Given the description of an element on the screen output the (x, y) to click on. 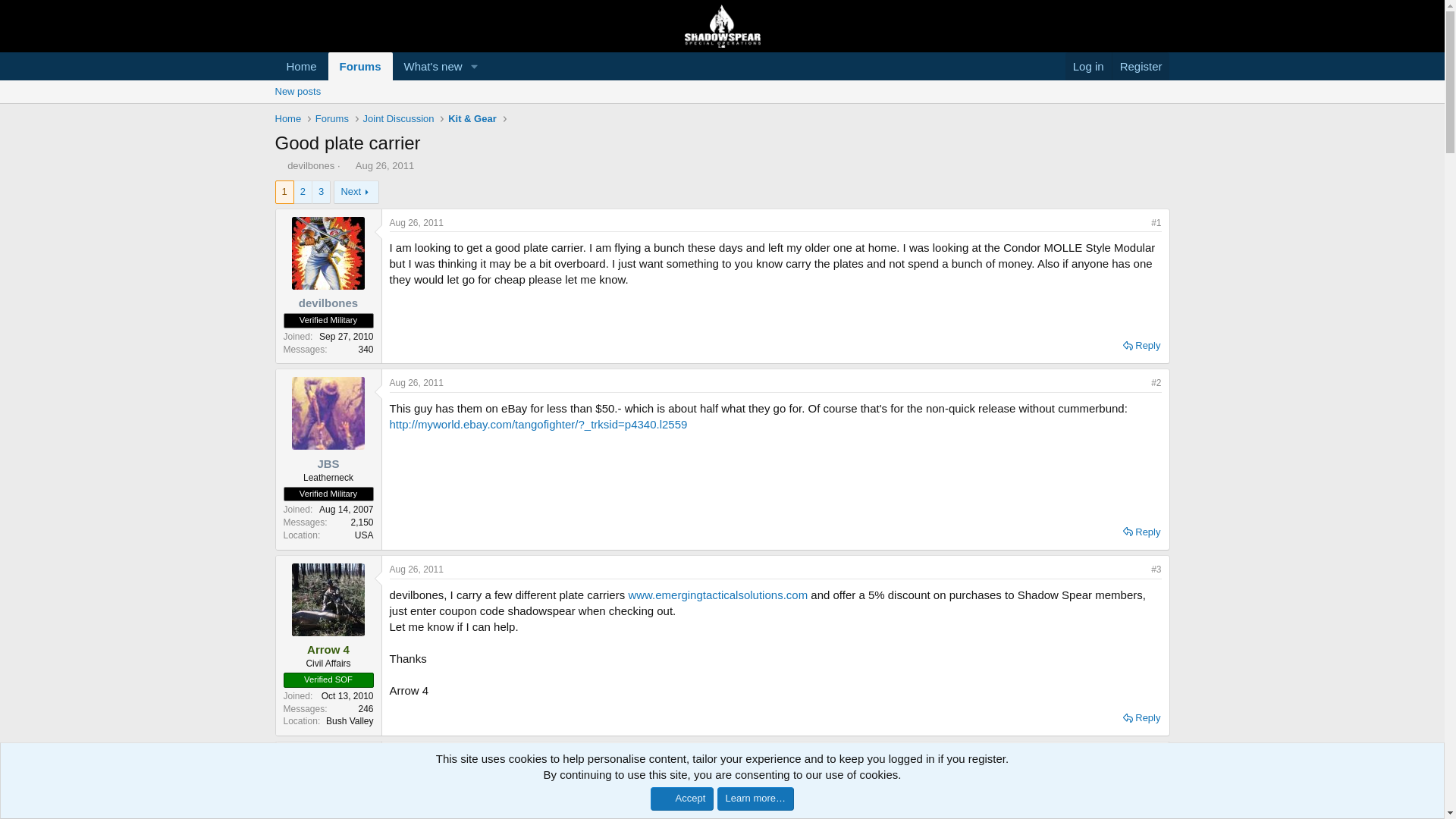
Start date (347, 165)
New posts (720, 108)
Home (379, 66)
Forums (287, 117)
Register (331, 117)
Aug 26, 2011 at 5:30 PM (1141, 66)
Home (384, 165)
Reply, quoting this message (301, 66)
Aug 26, 2011 at 10:26 PM (1141, 718)
Thread starter (417, 755)
Reply, quoting this message (279, 165)
Aug 26, 2011 at 7:09 PM (1141, 532)
Reply, quoting this message (379, 83)
